Given the description of an element on the screen output the (x, y) to click on. 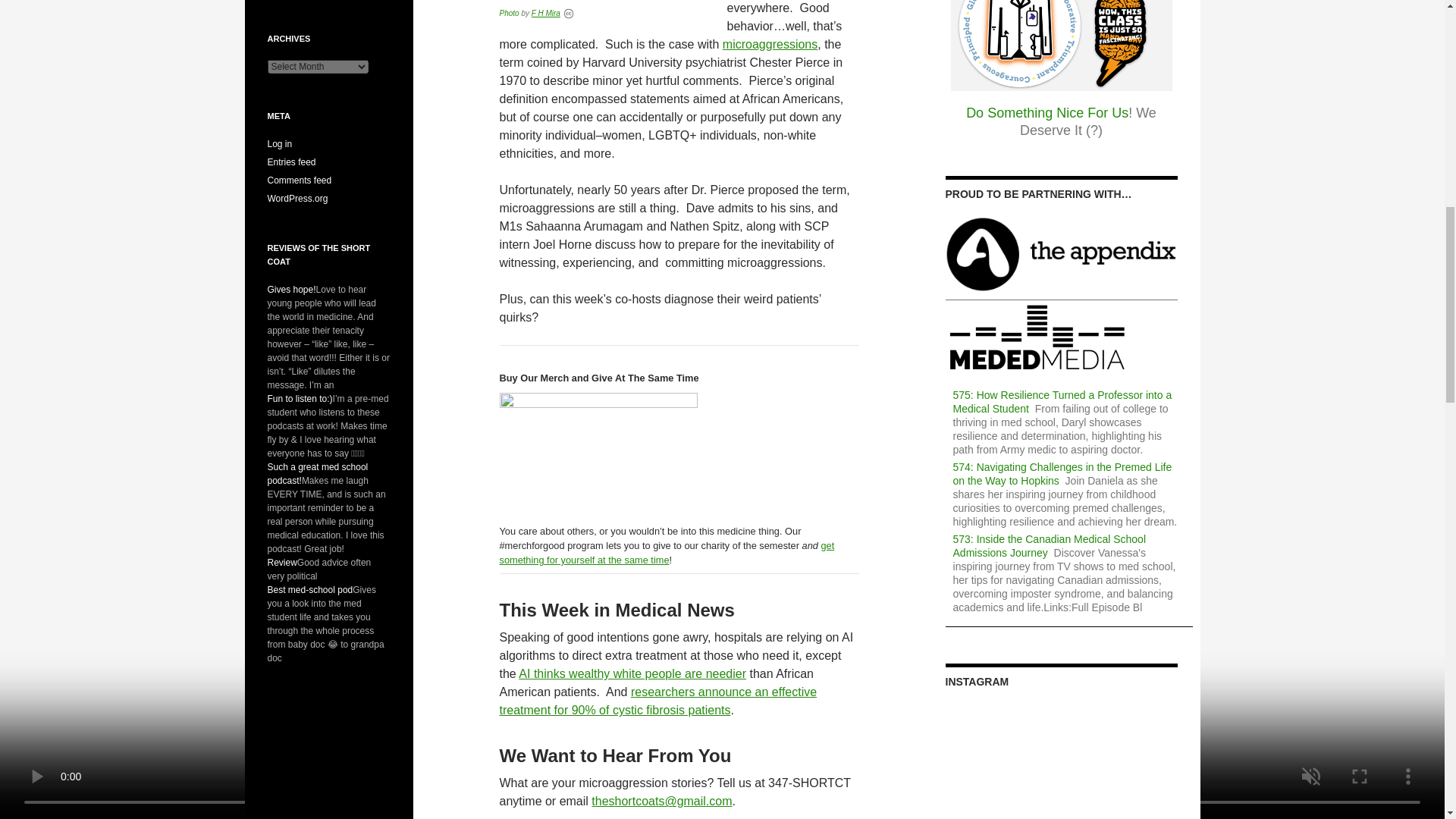
get something for yourself at the same time (666, 552)
Image inserted by the ImageInject WordPress plugin (508, 13)
Attribution-ShareAlike License (568, 13)
AI thinks wealthy white people are needier (631, 673)
microaggressions (769, 43)
F H Mira (545, 13)
Photo (508, 13)
